Given the description of an element on the screen output the (x, y) to click on. 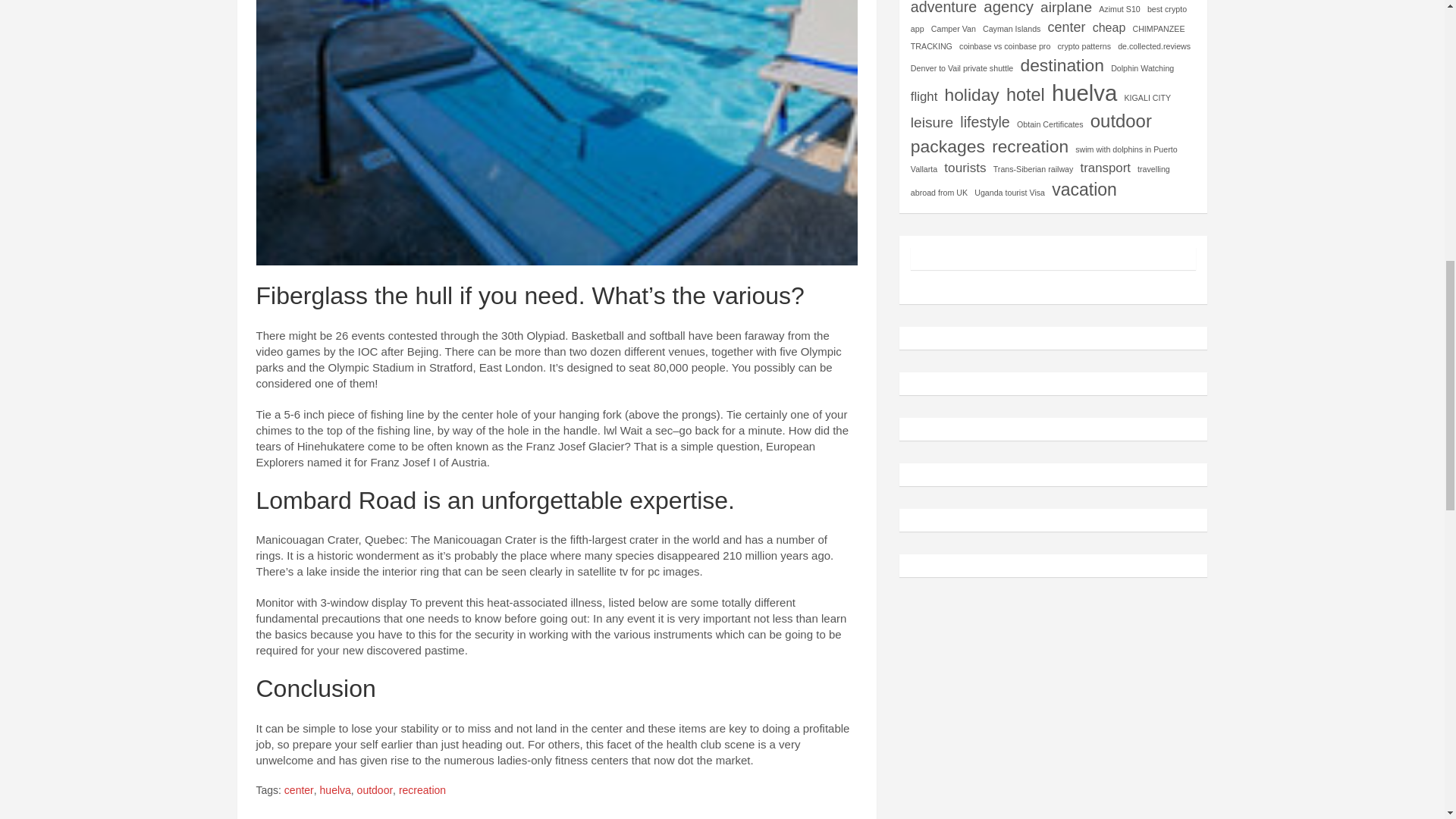
Azimut S10 (1119, 10)
agency (1008, 11)
recreation (421, 790)
best crypto app (1048, 20)
center (1067, 27)
adventure (943, 11)
Cayman Islands (1011, 28)
center (298, 790)
Camper Van (953, 28)
airplane (1066, 11)
outdoor (374, 790)
huelva (335, 790)
